Given the description of an element on the screen output the (x, y) to click on. 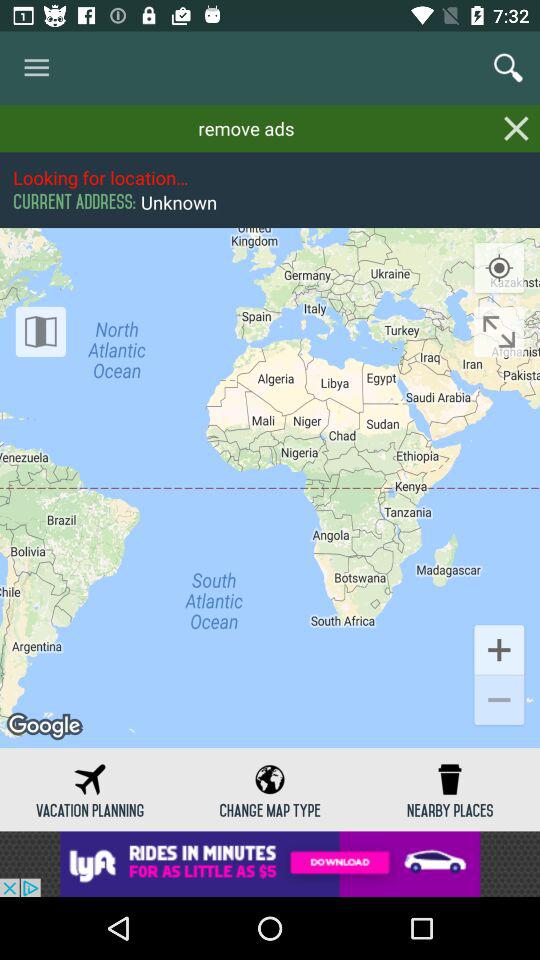
direction selection (499, 331)
